Given the description of an element on the screen output the (x, y) to click on. 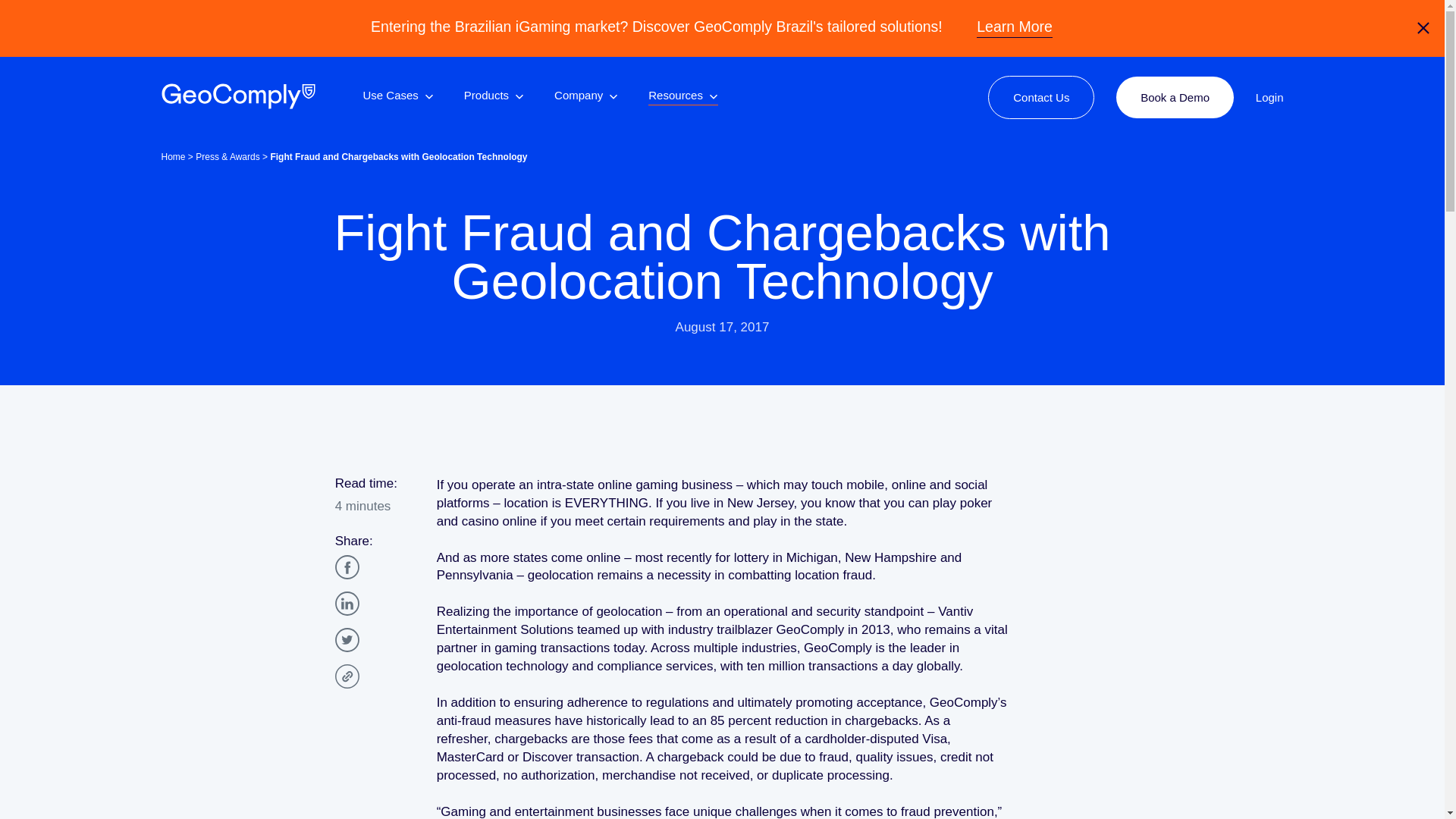
Use Cases (397, 97)
Return to Home (237, 95)
Copy Link (346, 676)
LinkedIn (346, 603)
Facebook (346, 567)
Learn More (1014, 27)
Products (494, 97)
Twitter (346, 639)
Company (585, 97)
